Given the description of an element on the screen output the (x, y) to click on. 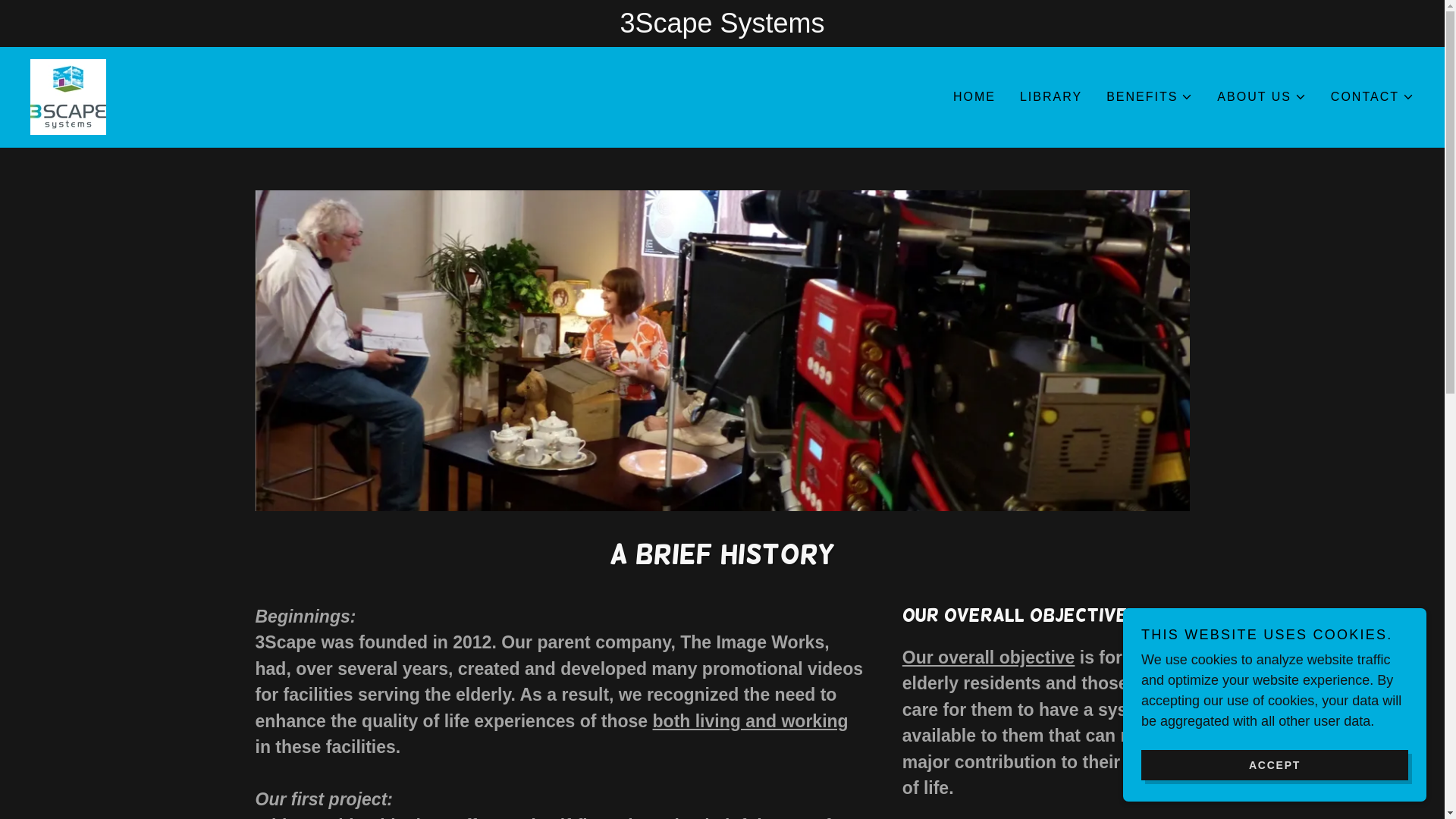
CONTACT Element type: text (1372, 96)
ABOUT US Element type: text (1261, 96)
LIBRARY Element type: text (1050, 96)
3Scape Systems Element type: hover (68, 95)
HOME Element type: text (974, 96)
BENEFITS Element type: text (1149, 96)
ACCEPT Element type: text (1274, 764)
